Given the description of an element on the screen output the (x, y) to click on. 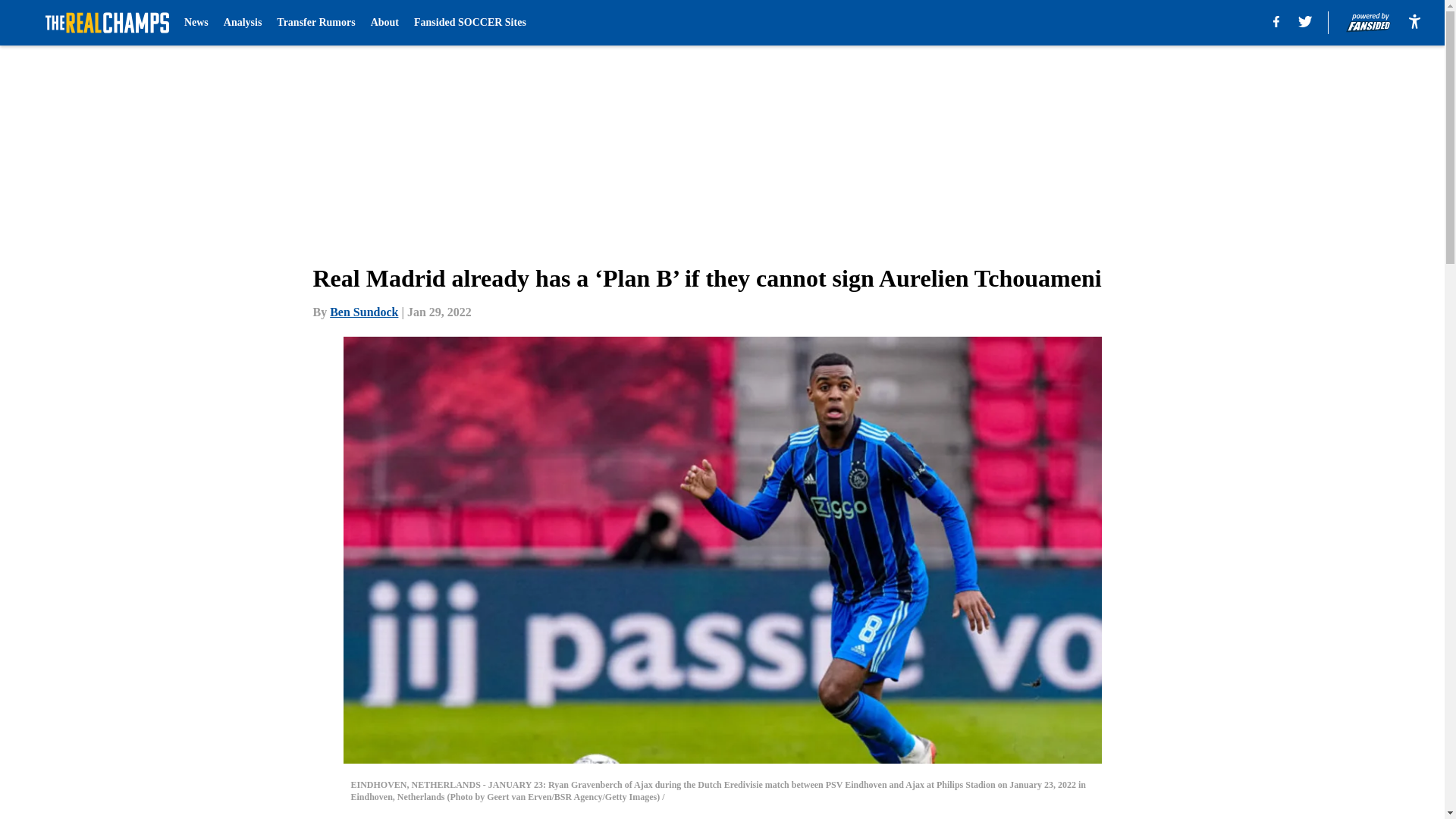
Fansided SOCCER Sites (469, 22)
Analysis (243, 22)
Ben Sundock (363, 311)
News (196, 22)
Transfer Rumors (315, 22)
About (384, 22)
